Given the description of an element on the screen output the (x, y) to click on. 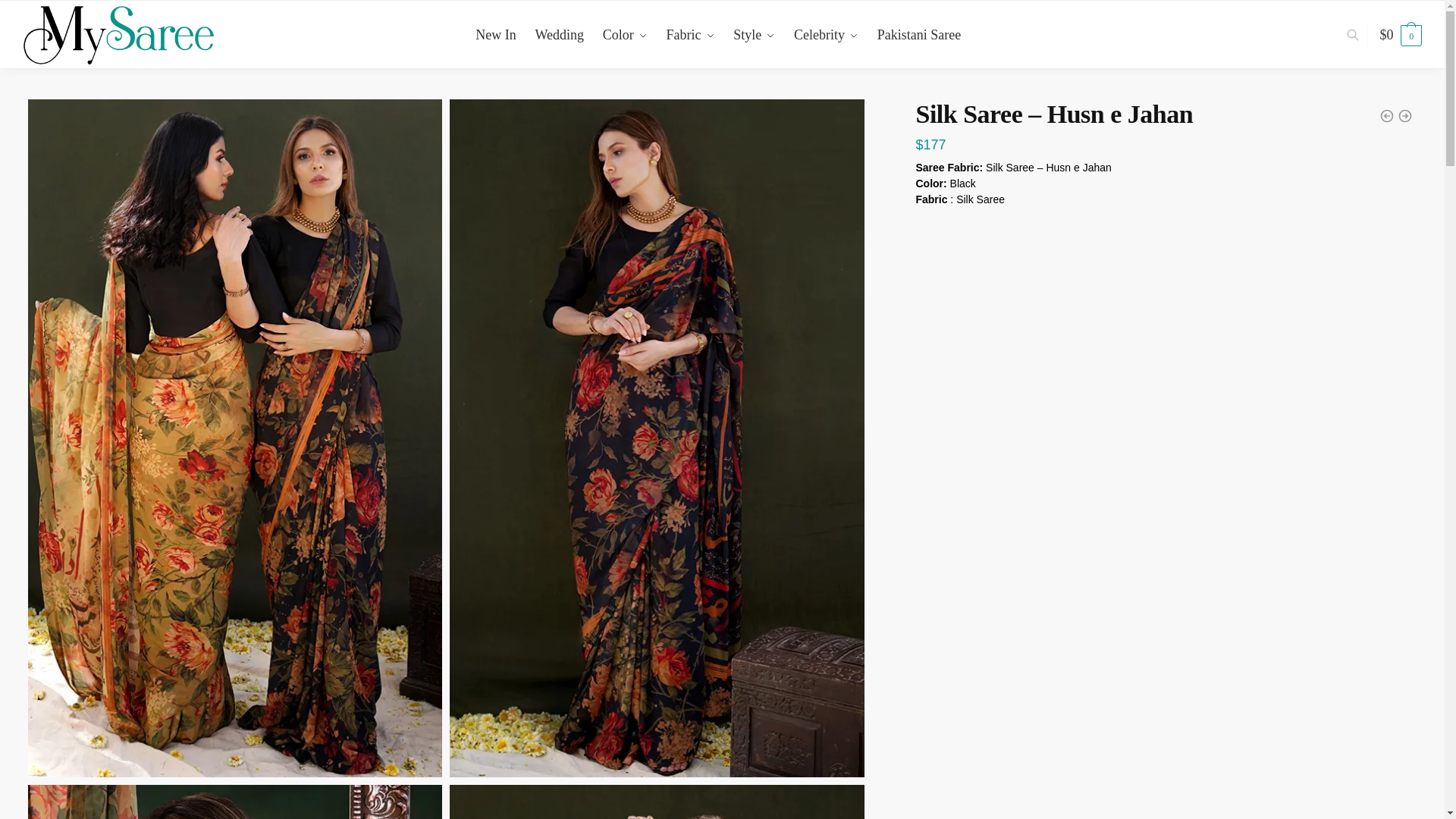
Wedding (559, 34)
click to zoom-in (656, 801)
View your shopping cart (1401, 34)
Fabric (690, 34)
click to zoom-in (234, 801)
Celebrity (826, 34)
